Given the description of an element on the screen output the (x, y) to click on. 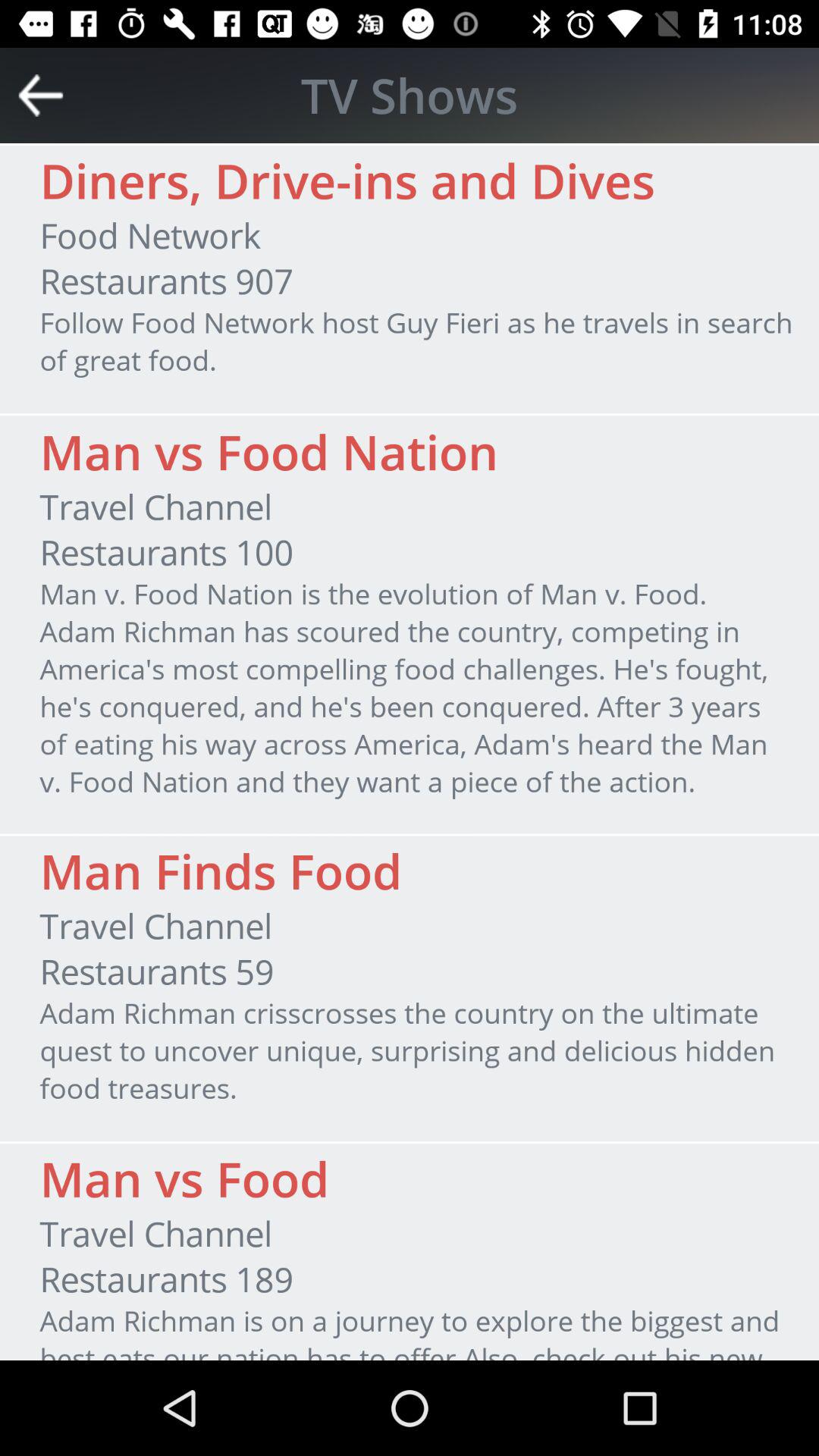
click the icon above adam richman crisscrosses item (156, 971)
